Given the description of an element on the screen output the (x, y) to click on. 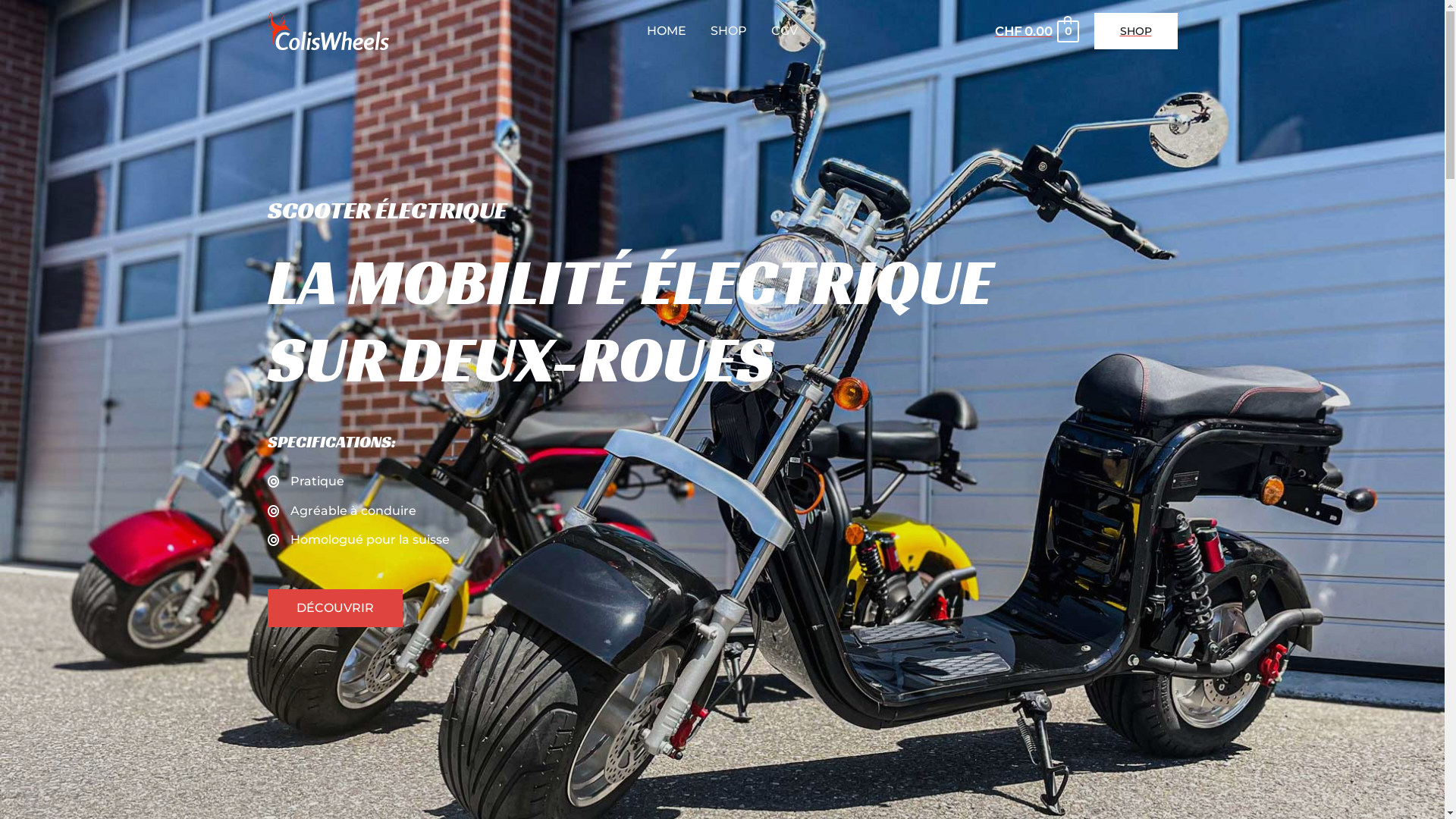
SHOP Element type: text (728, 30)
HOME Element type: text (666, 30)
CHF 0.00
0 Element type: text (1036, 31)
SHOP Element type: text (1134, 30)
CGV Element type: text (784, 30)
